Given the description of an element on the screen output the (x, y) to click on. 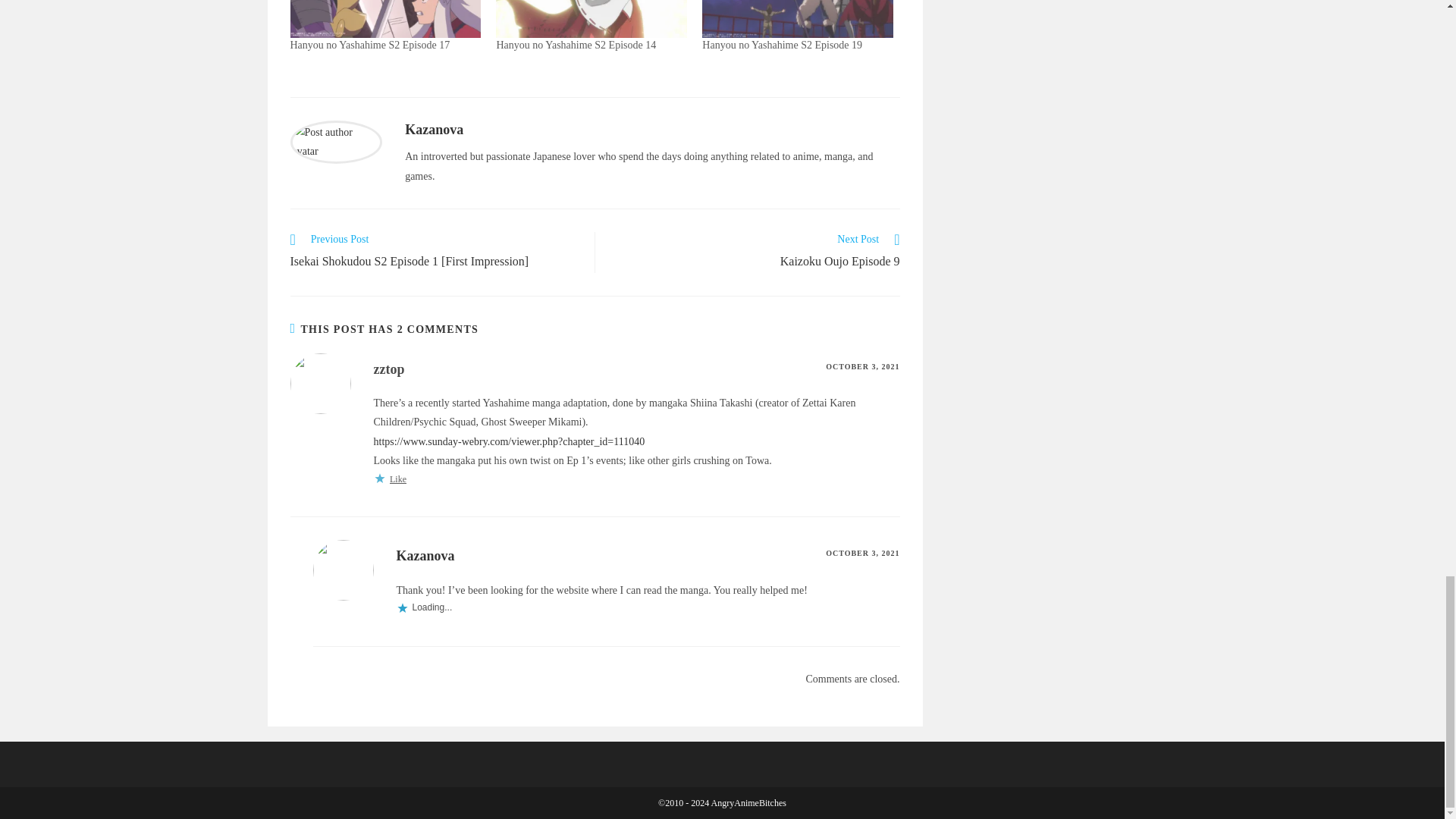
Hanyou no Yashahime S2 Episode 14 (576, 44)
Hanyou no Yashahime S2 Episode 19 (781, 44)
Visit author page (335, 141)
Hanyou no Yashahime S2 Episode 19 (797, 18)
Visit author page (433, 129)
Hanyou no Yashahime S2 Episode 17 (369, 44)
Hanyou no Yashahime S2 Episode 17 (384, 18)
Hanyou no Yashahime S2 Episode 14 (591, 18)
